Given the description of an element on the screen output the (x, y) to click on. 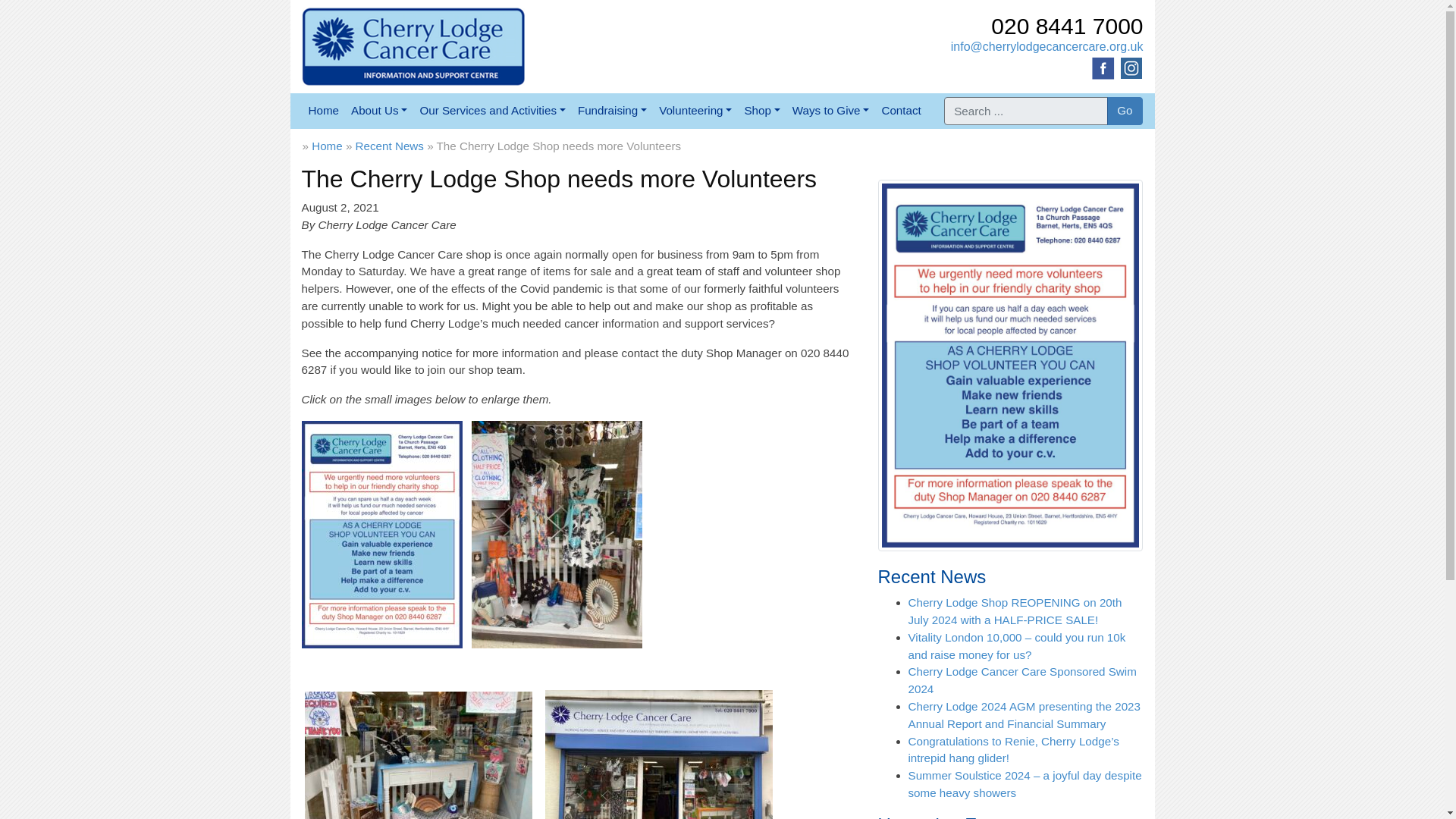
Our Services and Activities (492, 110)
Home (323, 110)
Follow us on Facebook (1102, 66)
About Us (379, 110)
Home (323, 110)
About Us (379, 110)
020 8441 7000 (1066, 25)
Follow us on Instagram (1130, 66)
Fundraising (612, 110)
Our Services and Activities (492, 110)
